Given the description of an element on the screen output the (x, y) to click on. 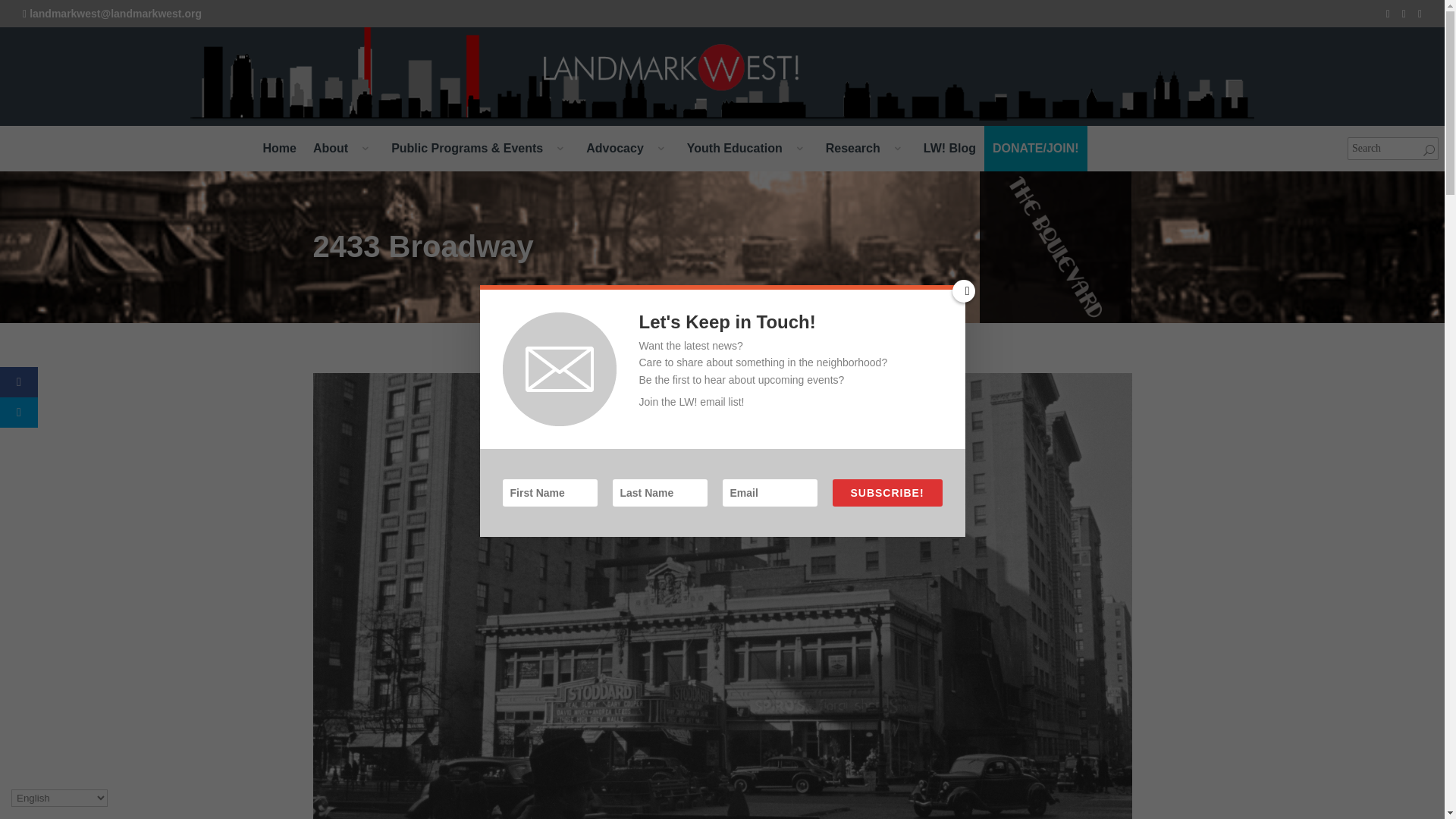
Advocacy (628, 148)
About (343, 148)
Home (278, 148)
